Given the description of an element on the screen output the (x, y) to click on. 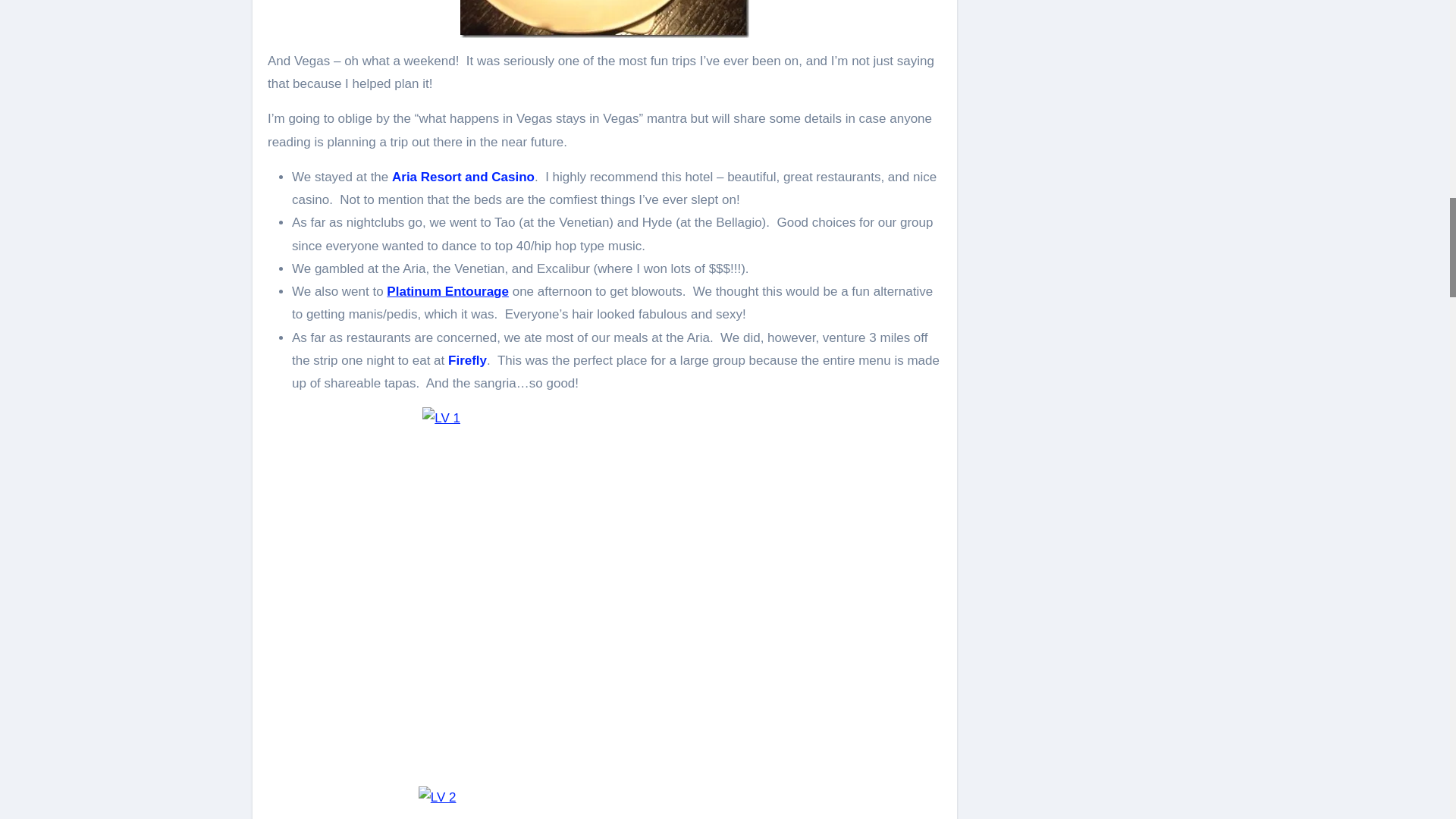
Aria Resort and Casino (462, 176)
RPM 1 (604, 18)
Platinum Entourage (447, 291)
LV 1 (604, 590)
Firefly (467, 359)
LV 2 (604, 802)
